Given the description of an element on the screen output the (x, y) to click on. 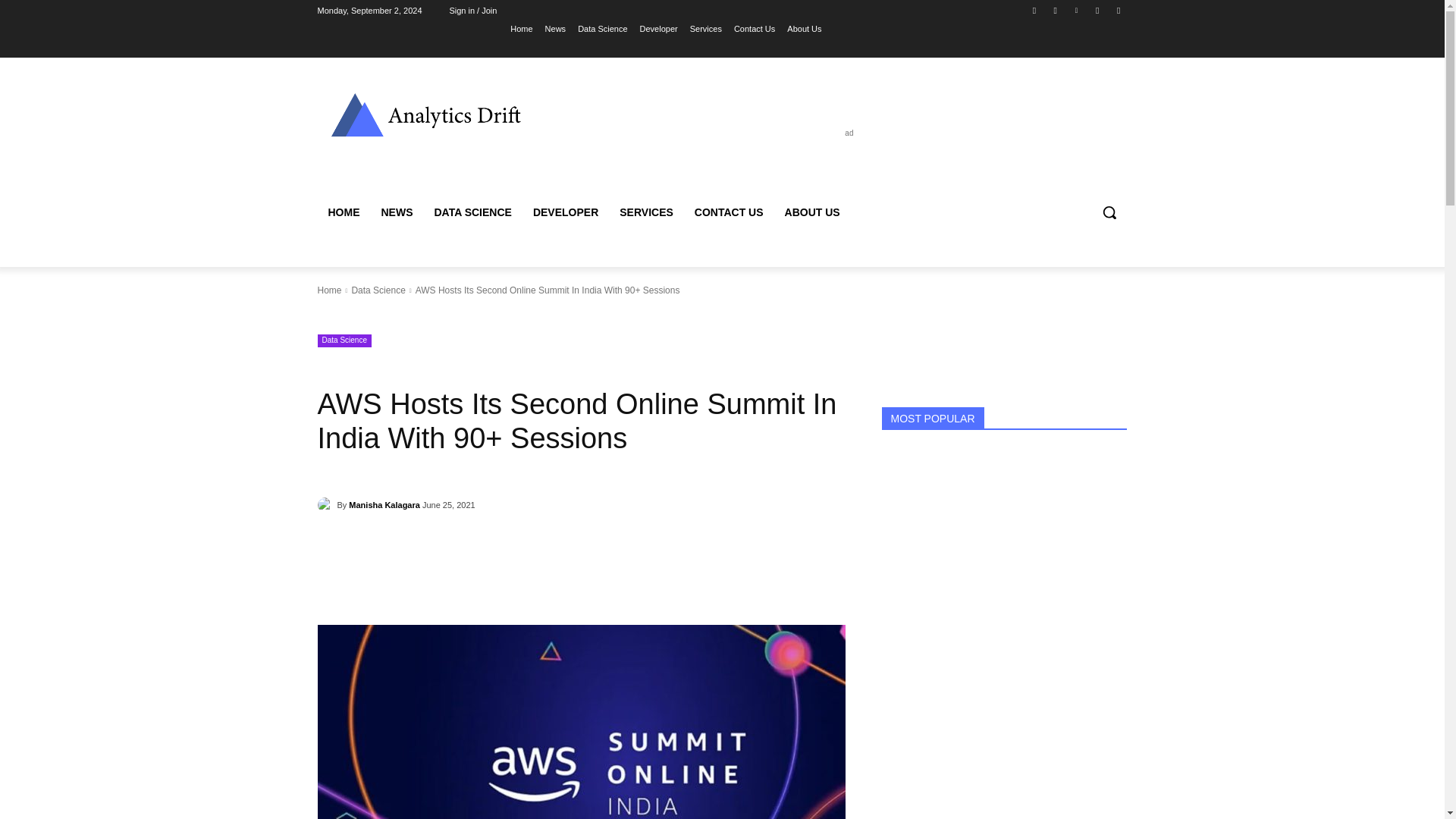
About Us (804, 28)
Twitter (1117, 9)
Data Science (602, 28)
SERVICES (646, 212)
DEVELOPER (565, 212)
News (555, 28)
Home (521, 28)
Instagram (1055, 9)
NEWS (396, 212)
Manisha Kalagara (384, 504)
